Given the description of an element on the screen output the (x, y) to click on. 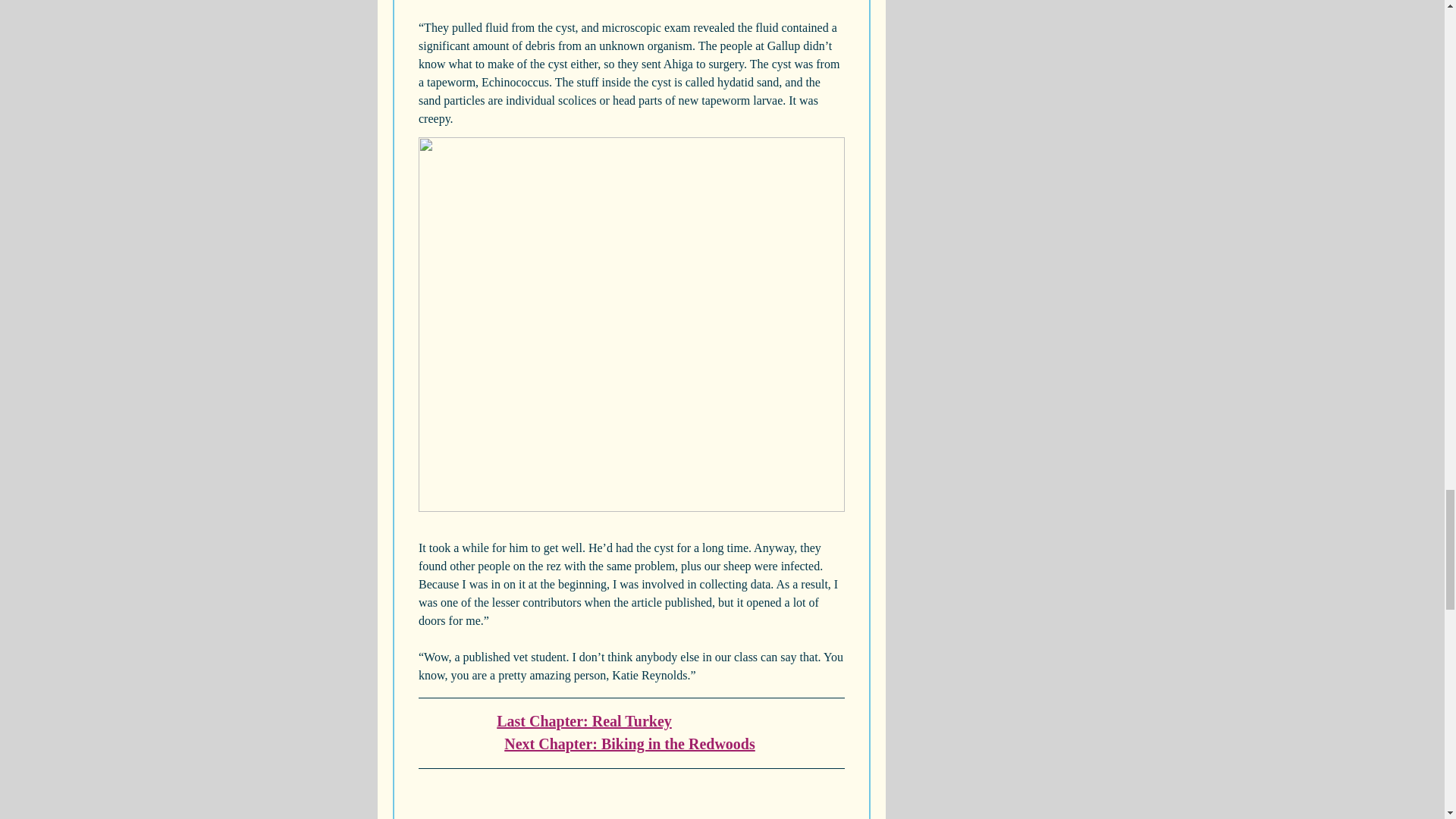
Last Chapter: Real Turkey (583, 720)
Next Chapter: Biking in the Redwoods (629, 743)
